Given the description of an element on the screen output the (x, y) to click on. 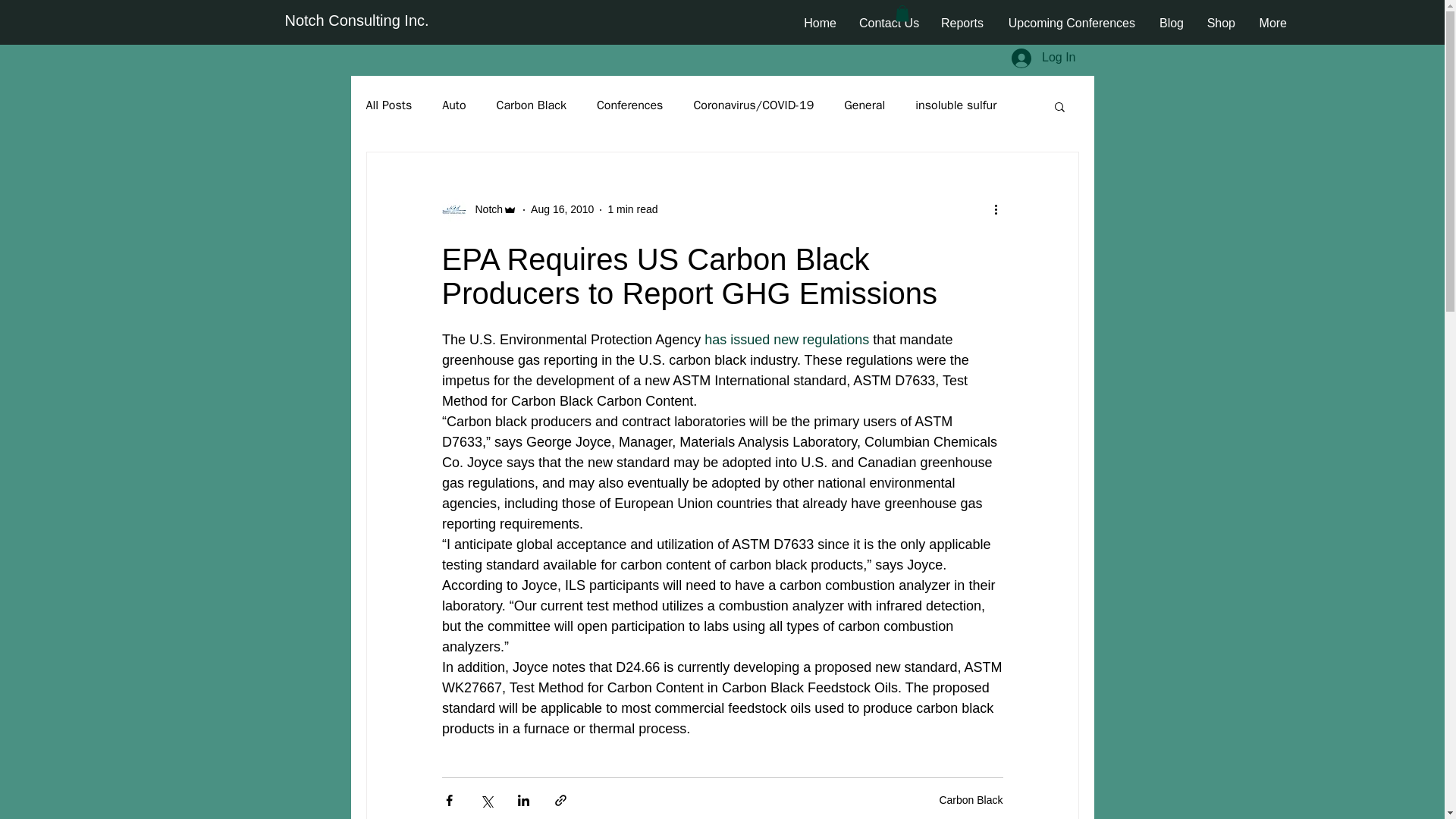
Carbon Black (971, 799)
Blog (1171, 23)
has issued new regulations (786, 339)
Shop (1220, 23)
General (864, 105)
Conferences (629, 105)
Notch  (483, 209)
Aug 16, 2010 (562, 209)
Contact Us (888, 23)
Upcoming Conferences (1070, 23)
Auto (453, 105)
1 min read (632, 209)
Home (818, 23)
All Posts (388, 105)
Reports (962, 23)
